Given the description of an element on the screen output the (x, y) to click on. 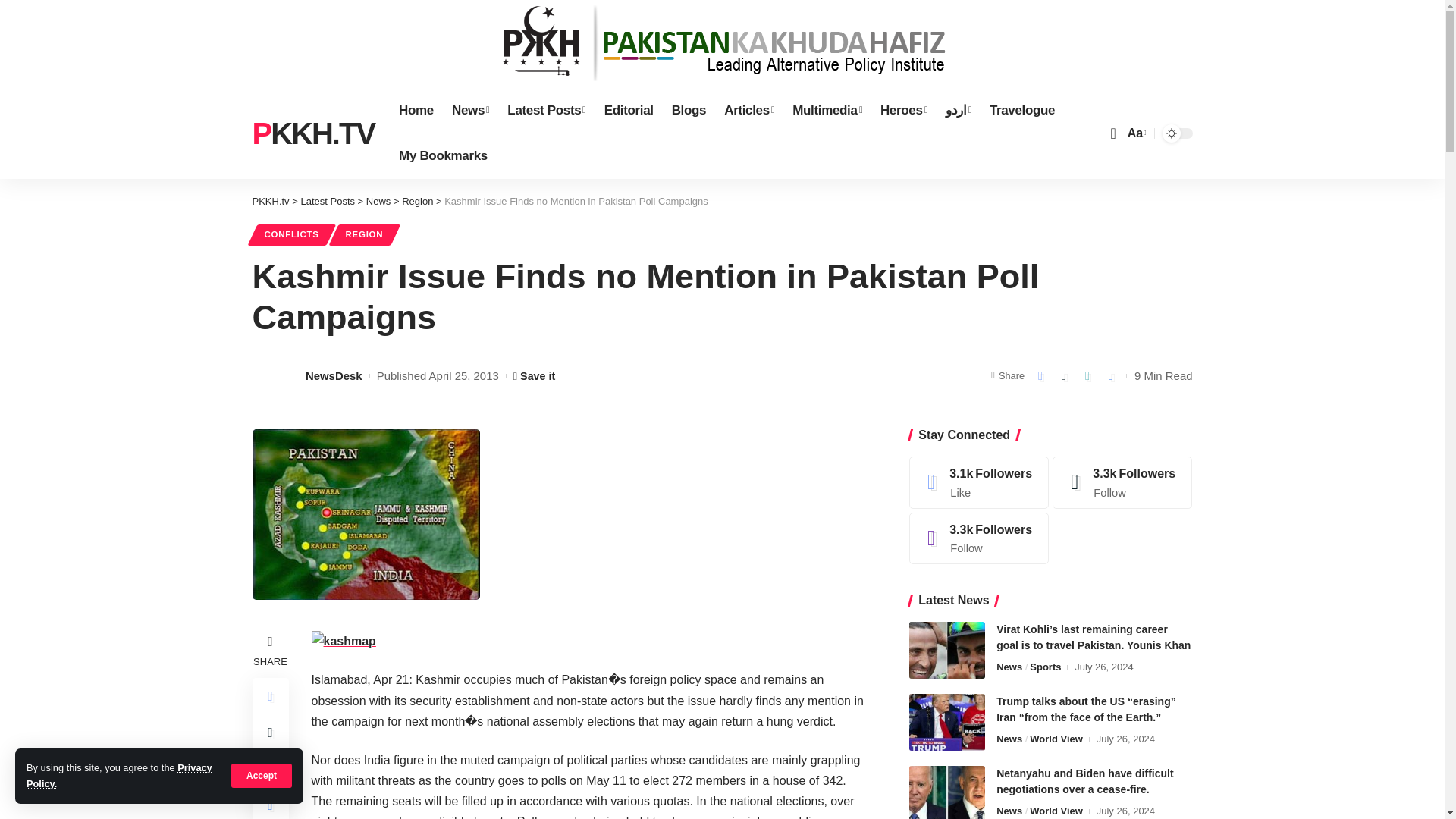
Home (416, 110)
Go to the Region Category archives. (416, 201)
Heroes (903, 110)
Articles (748, 110)
Latest Posts (545, 110)
Blogs (689, 110)
Multimedia (826, 110)
Accept (261, 775)
PKKH.tv (312, 133)
Privacy Policy. (119, 775)
Go to the News Category archives. (378, 201)
PKKH.TV (312, 133)
Editorial (628, 110)
Go to PKKH.tv. (269, 201)
News (469, 110)
